Given the description of an element on the screen output the (x, y) to click on. 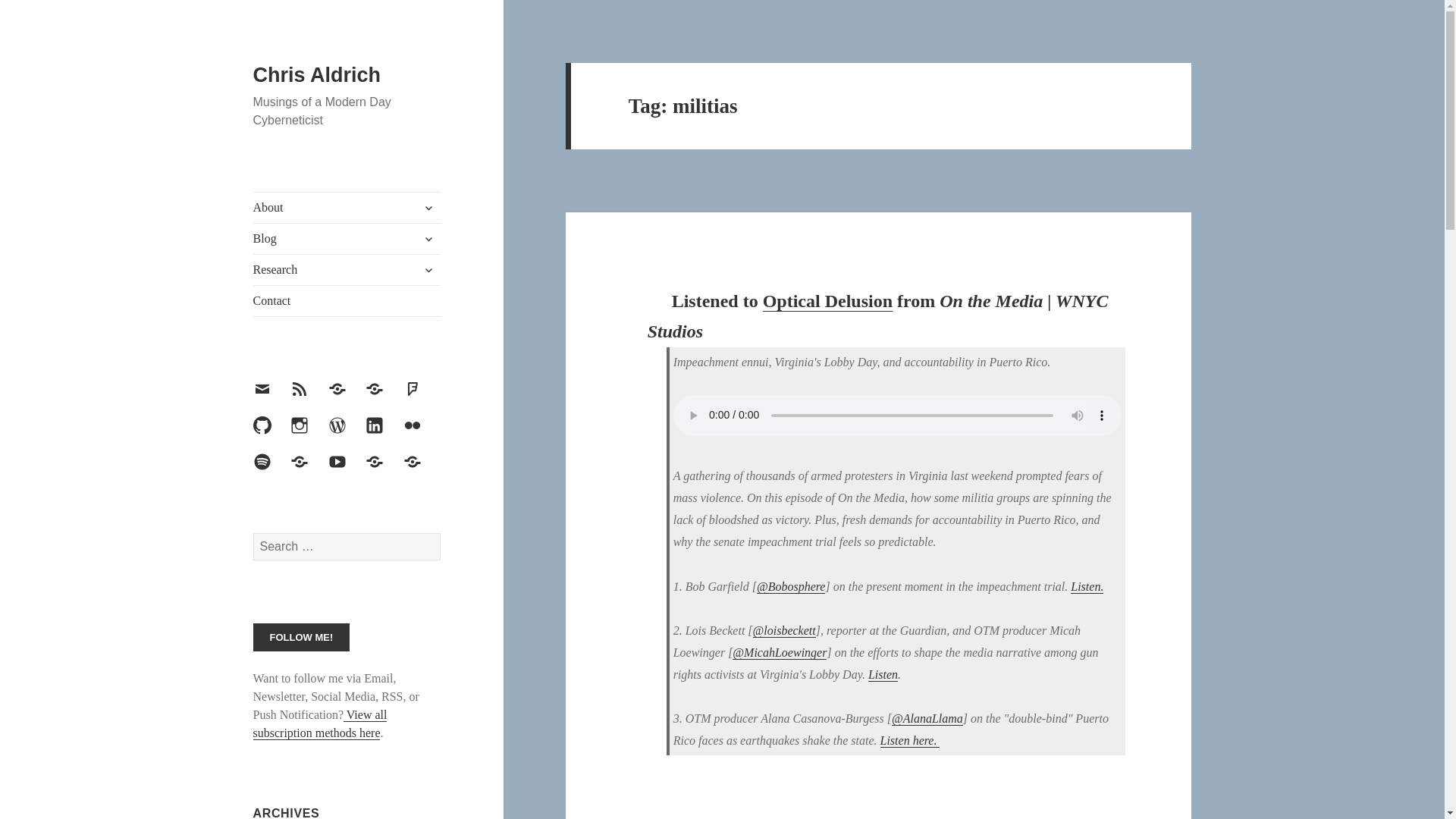
Blog (347, 238)
expand child menu (428, 238)
About (347, 207)
expand child menu (428, 207)
Follow Me! (301, 637)
Chris Aldrich (317, 74)
